Given the description of an element on the screen output the (x, y) to click on. 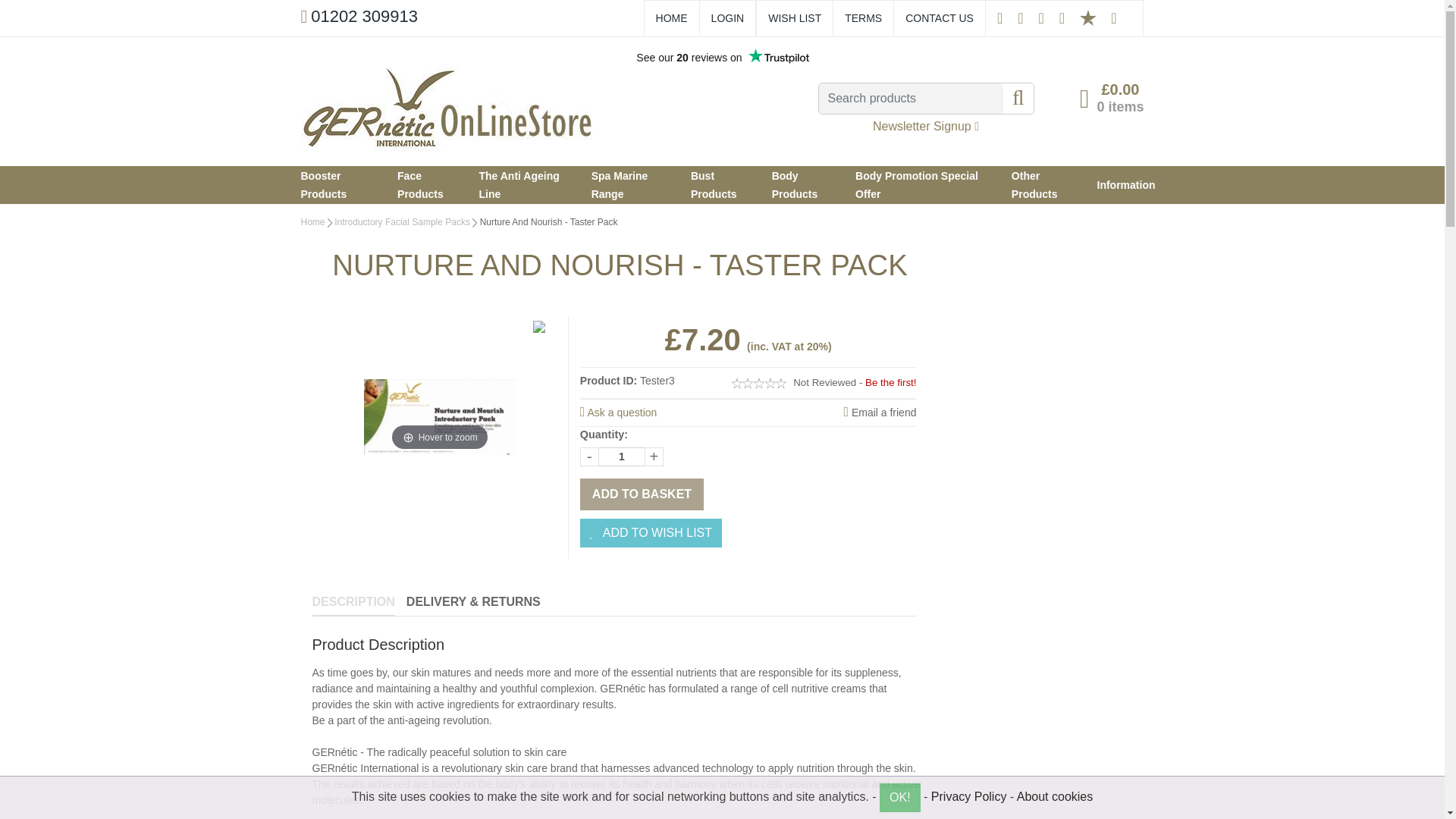
Trustpilot (1088, 17)
LOGIN (727, 18)
TERMS (863, 18)
1 (621, 456)
Nurture And Nourish - Taster Pack (439, 417)
GERnetic UK - Marguerite Thorpe Ltd GERnetic Products (445, 108)
CONTACT US (939, 18)
Newsletter Signup (924, 124)
Customer reviews powered by Trustpilot (720, 57)
01202 309913 (357, 16)
HOME (671, 18)
WISH LIST (794, 18)
